Given the description of an element on the screen output the (x, y) to click on. 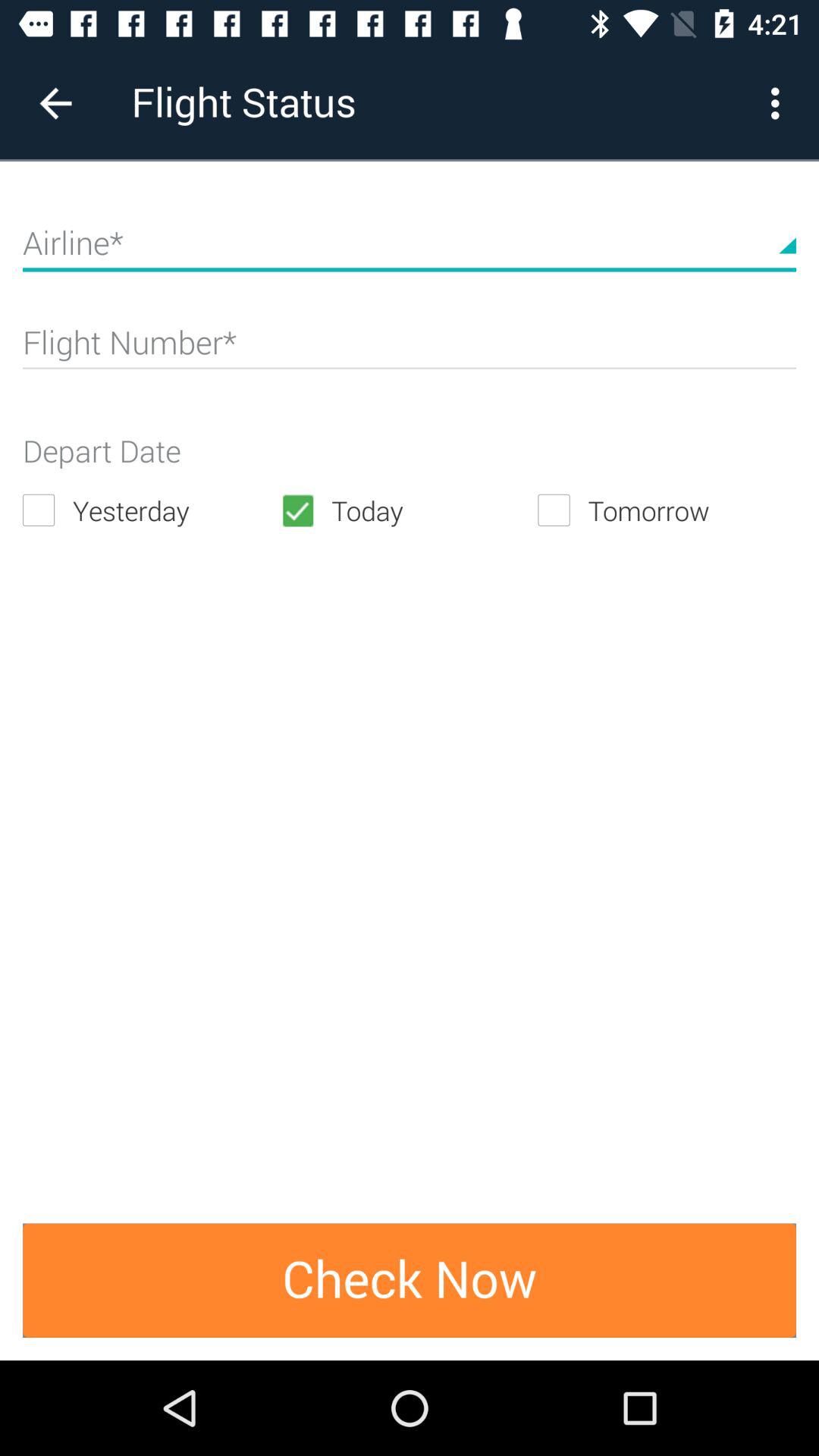
open item above check now item (409, 510)
